Given the description of an element on the screen output the (x, y) to click on. 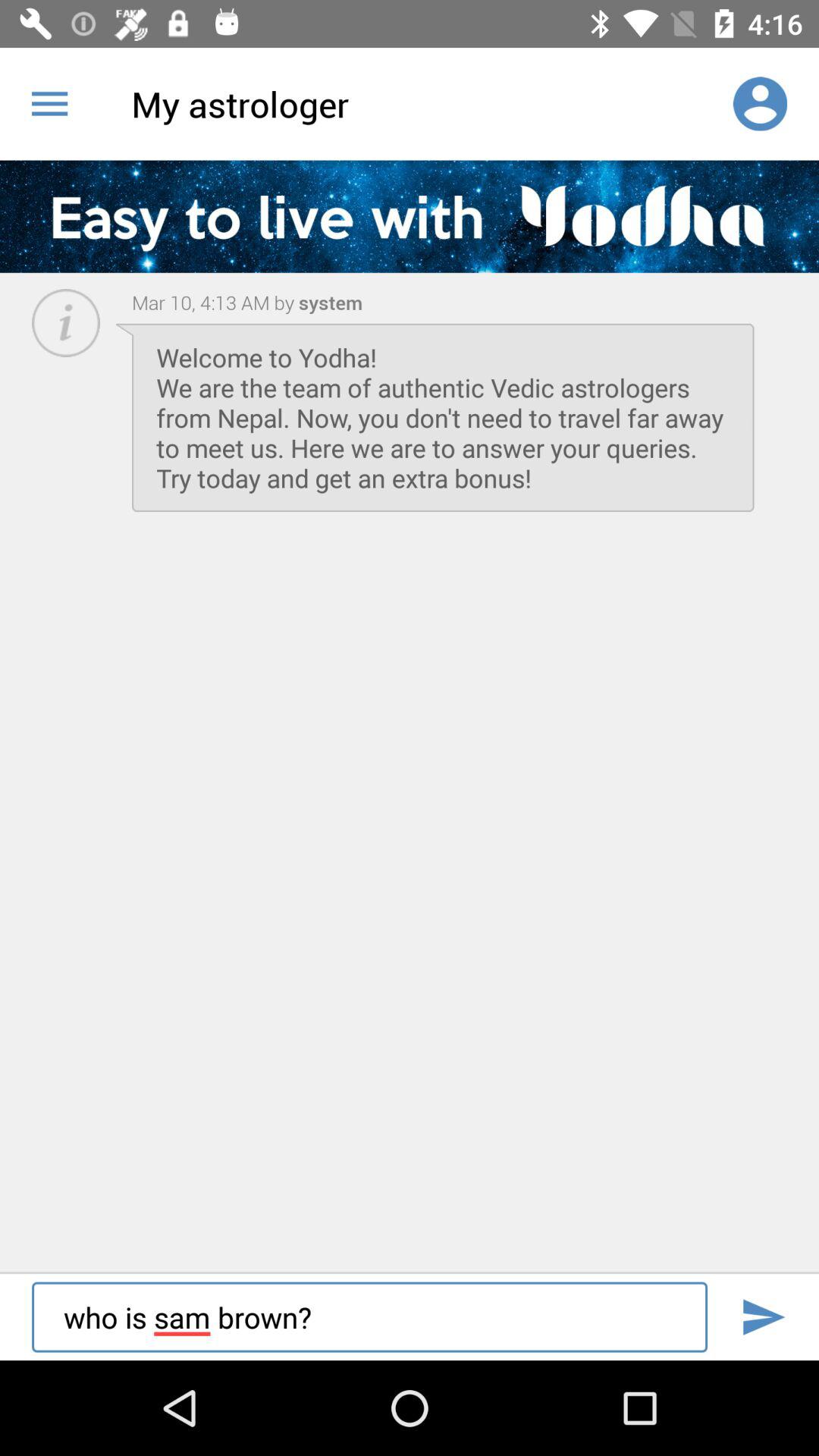
send reply (763, 1317)
